Given the description of an element on the screen output the (x, y) to click on. 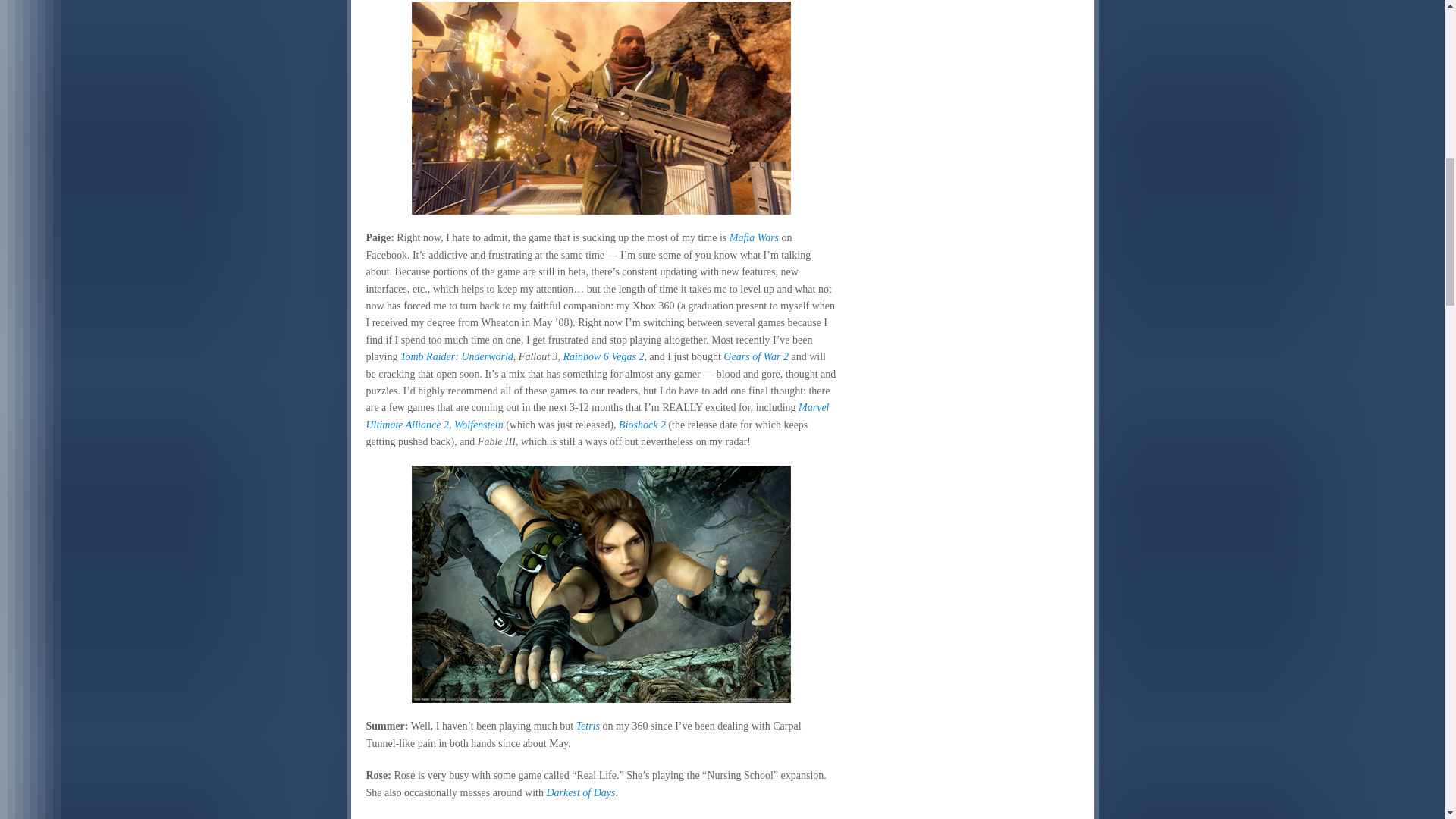
Wolfenstein (478, 424)
Bioshock 2 (641, 424)
Tetris (587, 726)
Gears of War 2 (756, 356)
Marvel Ultimate Alliance 2 (596, 415)
Mafia Wars (753, 237)
Tomb Raider: Underworld (456, 356)
Rainbow 6 Vegas 2 (604, 356)
